Given the description of an element on the screen output the (x, y) to click on. 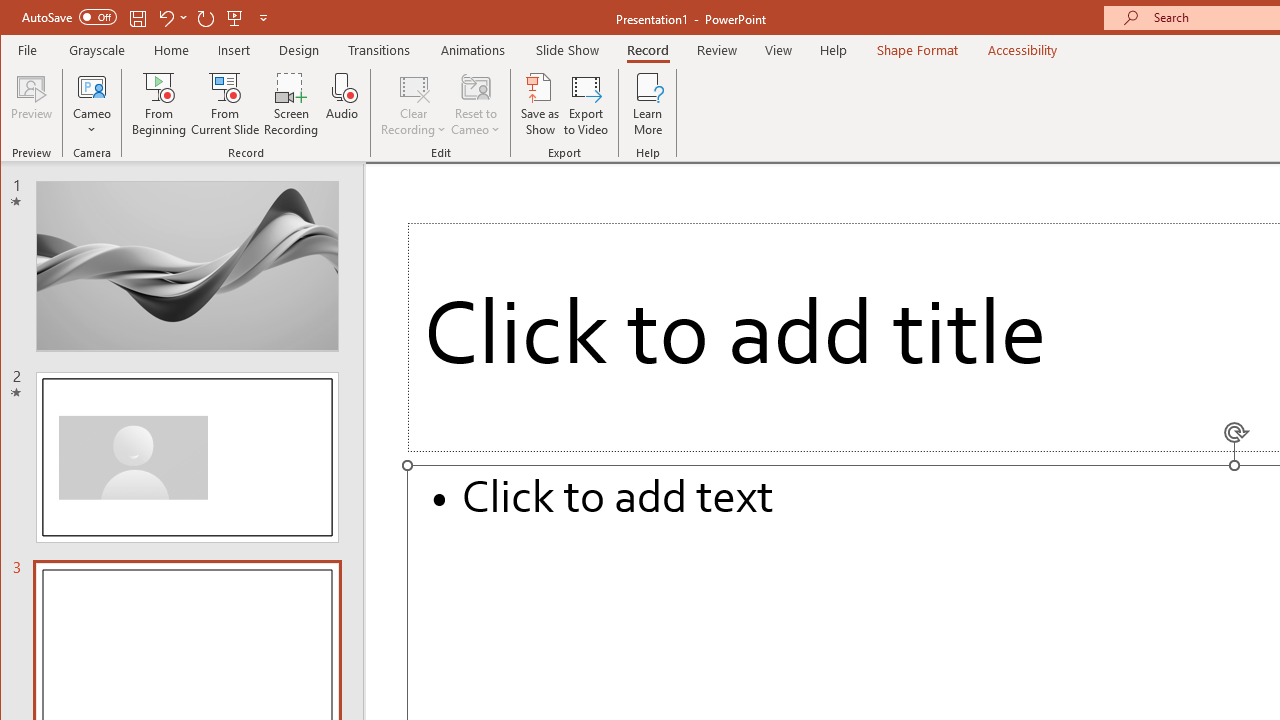
Redo (206, 17)
Quick Access Toolbar (146, 17)
Screen Recording (291, 104)
Export to Video (585, 104)
Animations (473, 50)
View (779, 50)
Grayscale (97, 50)
